Given the description of an element on the screen output the (x, y) to click on. 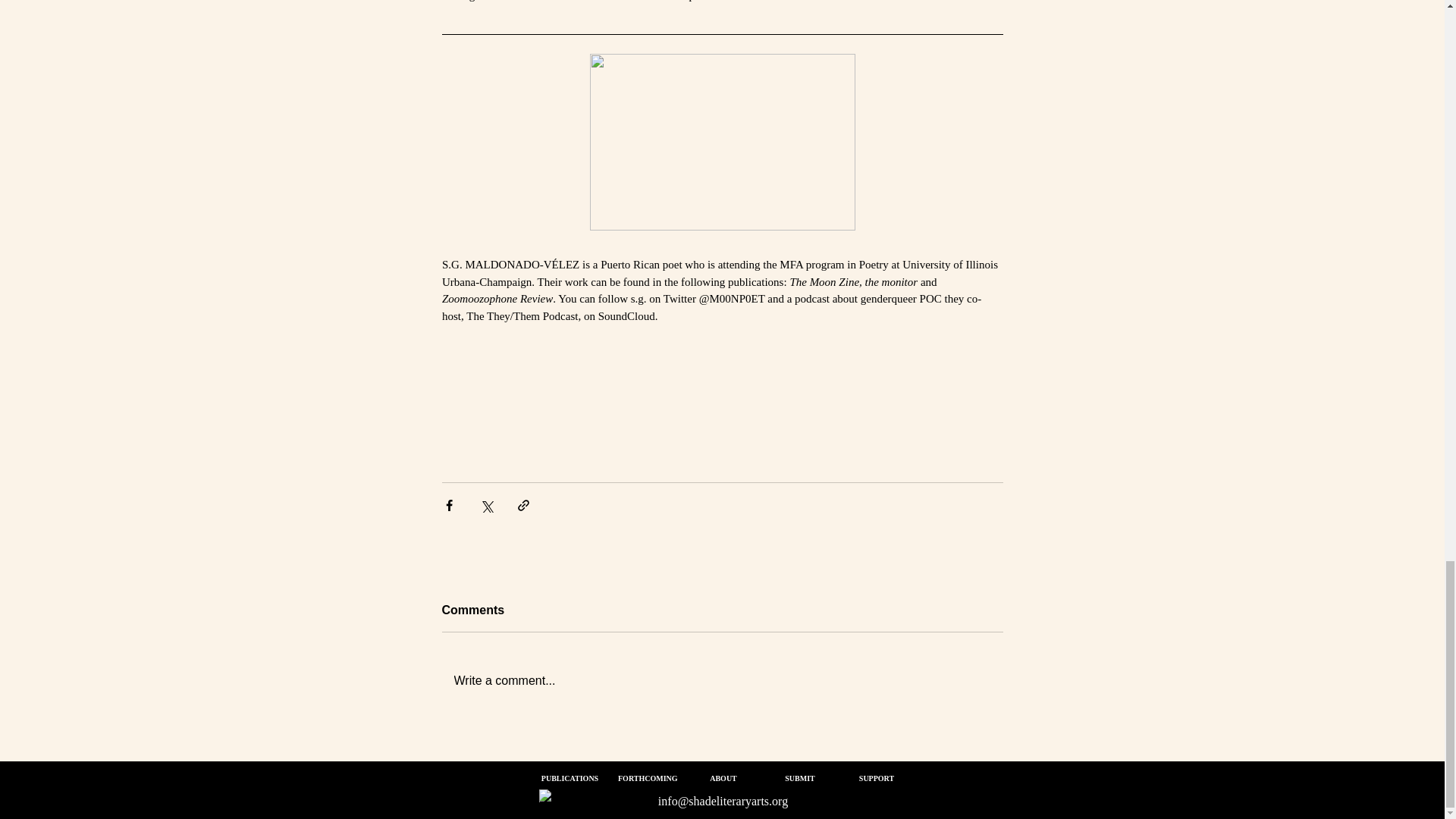
SUBMIT (799, 778)
Write a comment... (722, 680)
SUPPORT (876, 778)
ABOUT (723, 778)
